Given the description of an element on the screen output the (x, y) to click on. 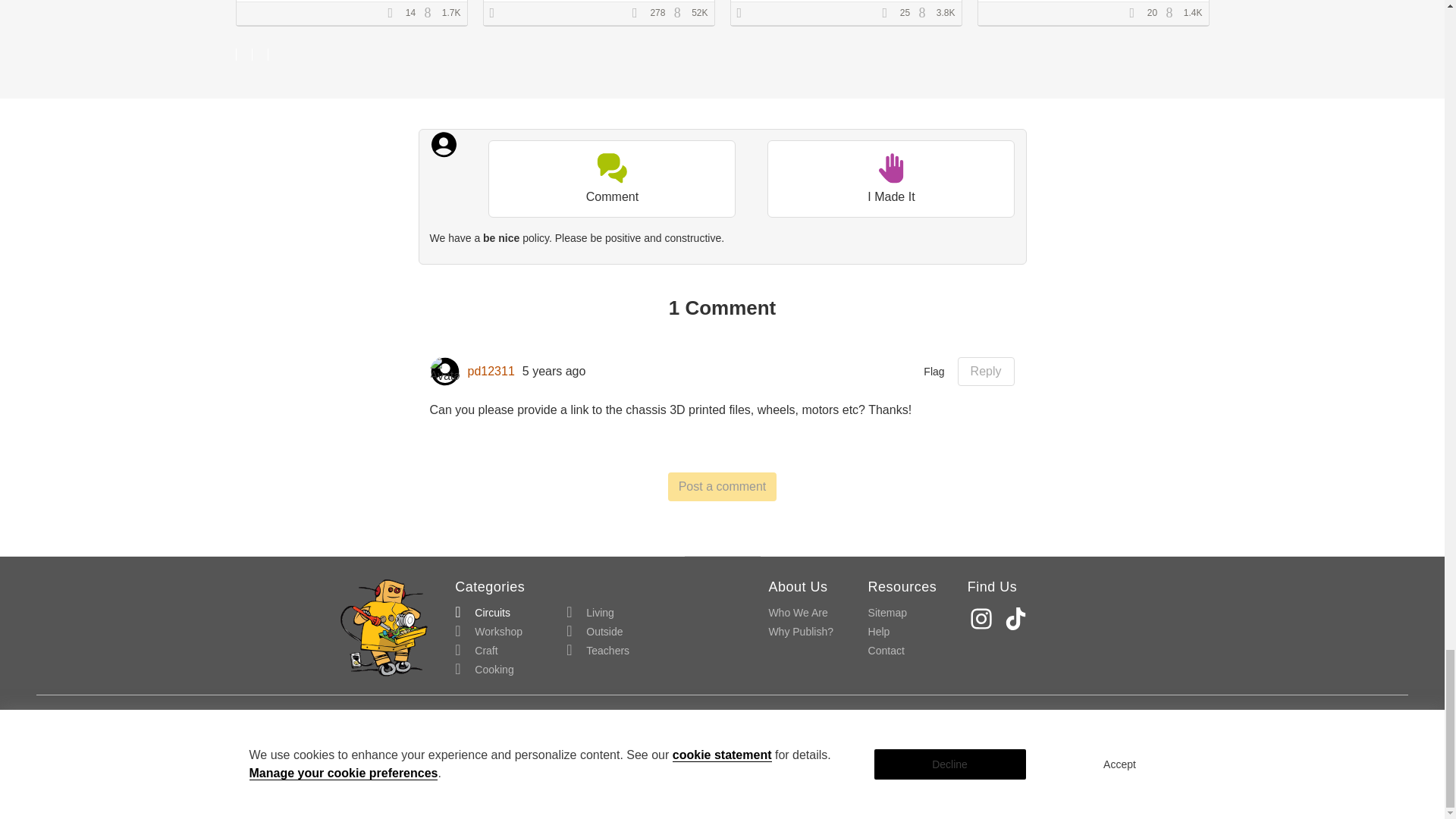
Views Count (925, 13)
Views Count (681, 13)
Contest Winner (744, 13)
TikTok (1018, 618)
Favorites Count (889, 13)
Instagram (983, 618)
Favorites Count (639, 13)
Favorites Count (395, 13)
Views Count (1173, 13)
Favorites Count (1136, 13)
Contest Winner (497, 13)
2019-10-05 16:44:59.0 (554, 371)
Views Count (431, 13)
